Given the description of an element on the screen output the (x, y) to click on. 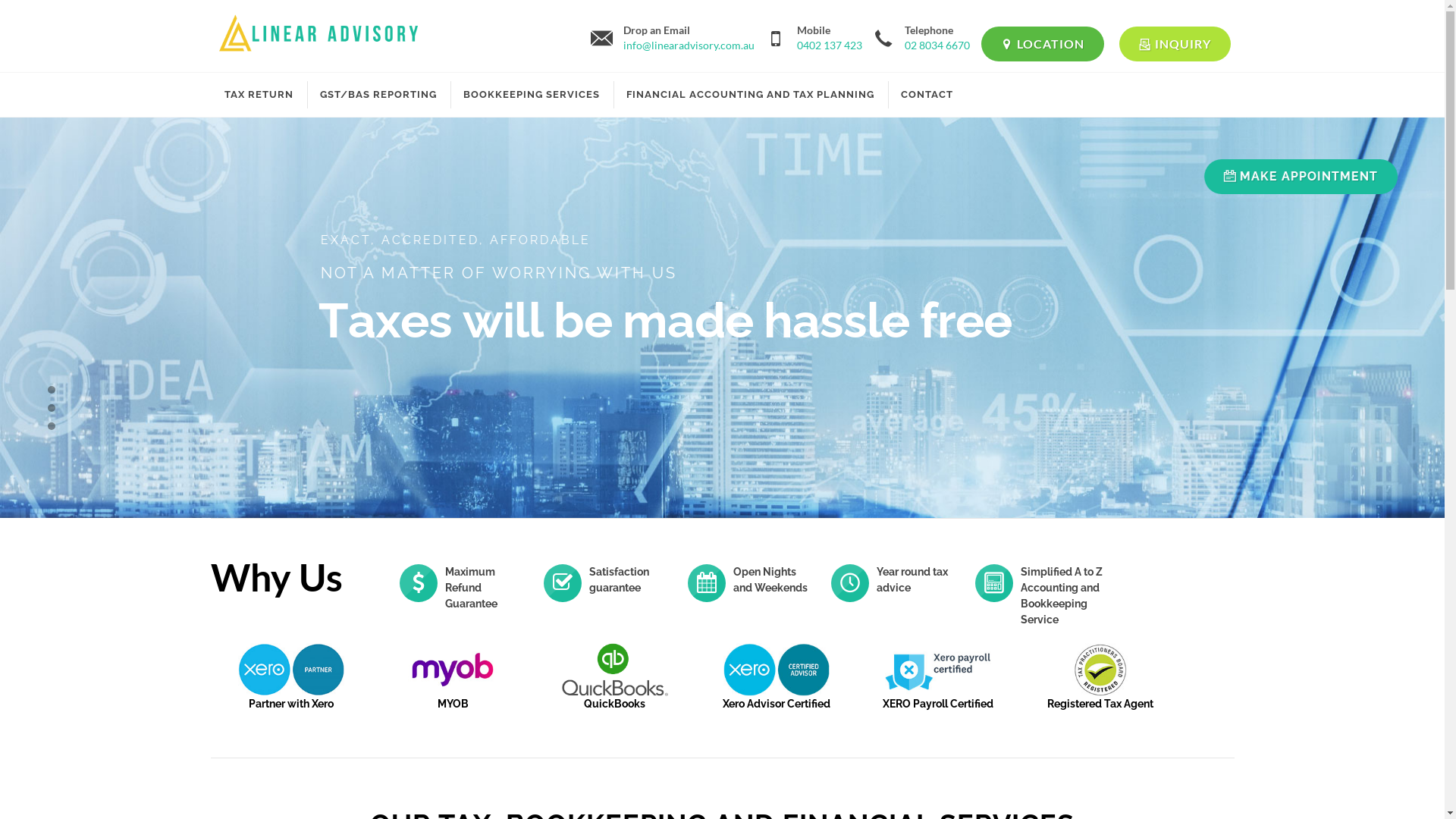
BOOKKEEPING SERVICES Element type: text (531, 94)
CONTACT Element type: text (926, 94)
MAKE APPOINTMENT Element type: text (1300, 176)
FINANCIAL ACCOUNTING AND TAX PLANNING Element type: text (749, 94)
LOCATION Element type: text (1042, 43)
TAX RETURN Element type: text (257, 94)
GST/BAS REPORTING Element type: text (377, 94)
INQUIRY Element type: text (1174, 43)
